Given the description of an element on the screen output the (x, y) to click on. 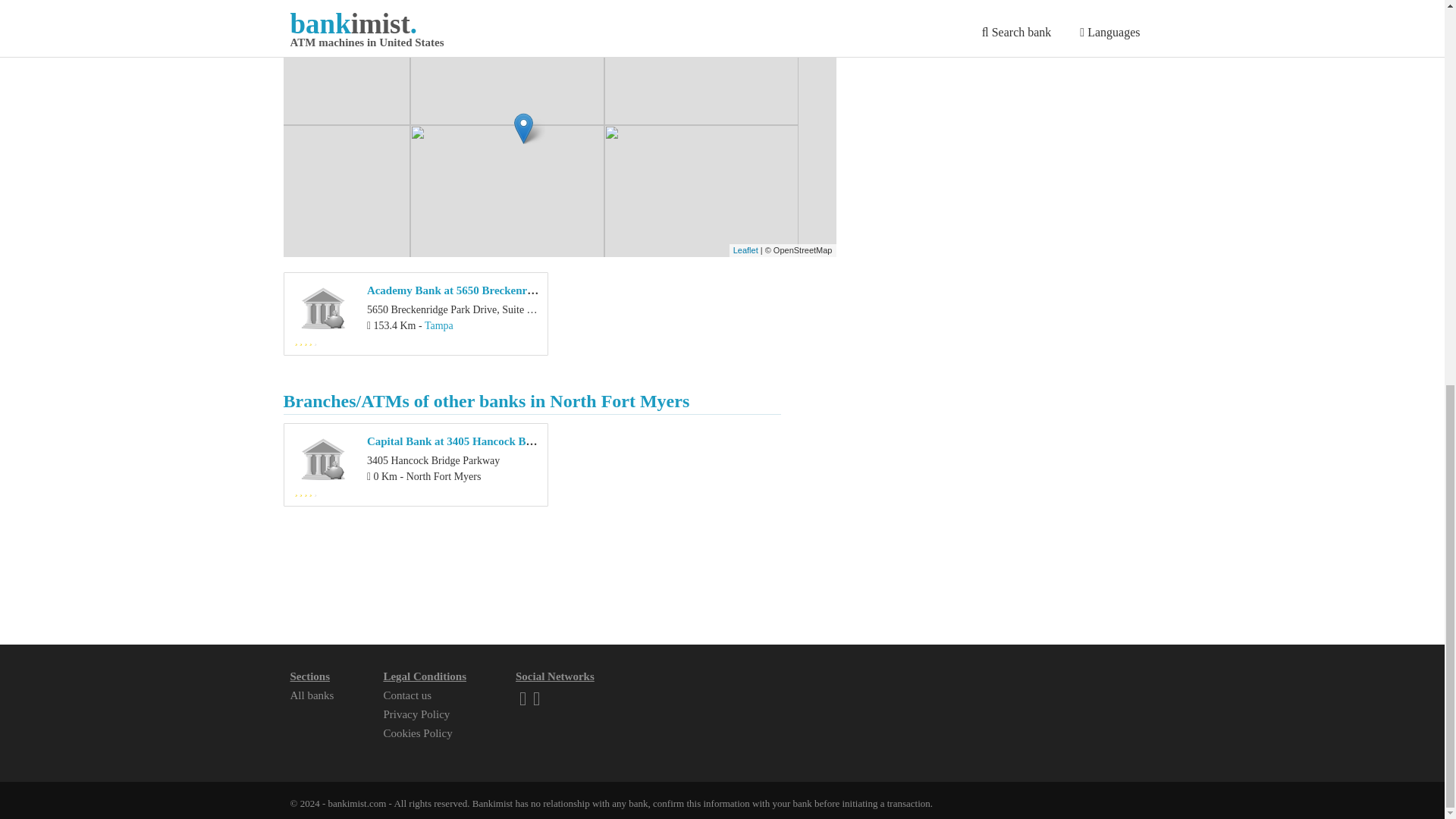
Zoom out (303, 34)
Tampa (438, 325)
Cookies Policy (416, 733)
Privacy Policy (415, 714)
Capital Bank at 3405 Hancock Bridge Parkway (481, 440)
Leaflet (745, 249)
A JS library for interactive maps (745, 249)
Academy Bank at 5650 Breckenridge Park Drive, Suite 110 (509, 290)
Zoom in (303, 11)
All banks (311, 695)
Contact us (406, 695)
Academy Bank at 5650 Breckenridge Park Drive, Suite 110 (509, 290)
Capital Bank at 3405 Hancock Bridge Parkway (481, 440)
